Given the description of an element on the screen output the (x, y) to click on. 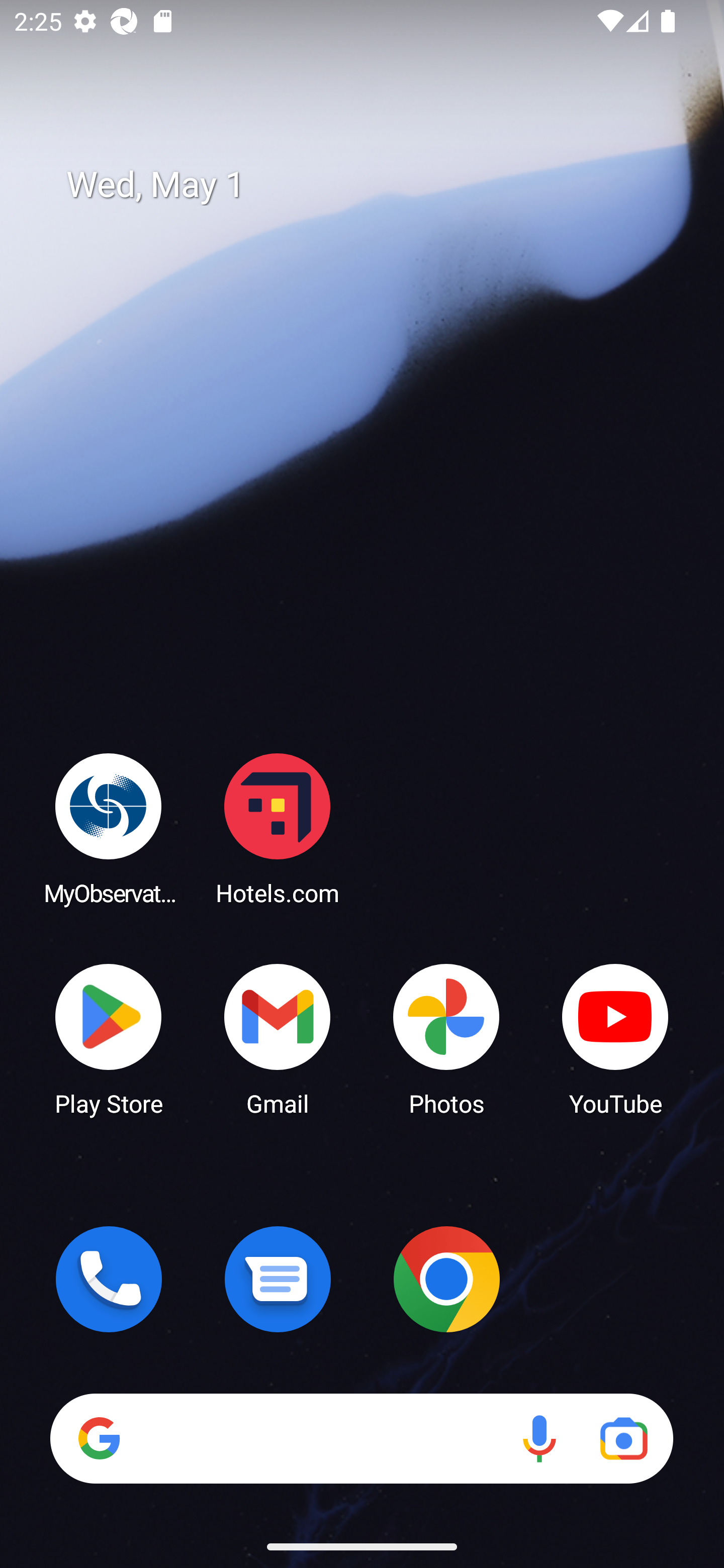
Wed, May 1 (375, 184)
MyObservatory (108, 828)
Hotels.com (277, 828)
Play Store (108, 1038)
Gmail (277, 1038)
Photos (445, 1038)
YouTube (615, 1038)
Phone (108, 1279)
Messages (277, 1279)
Chrome (446, 1279)
Search Voice search Google Lens (361, 1438)
Voice search (539, 1438)
Google Lens (623, 1438)
